Given the description of an element on the screen output the (x, y) to click on. 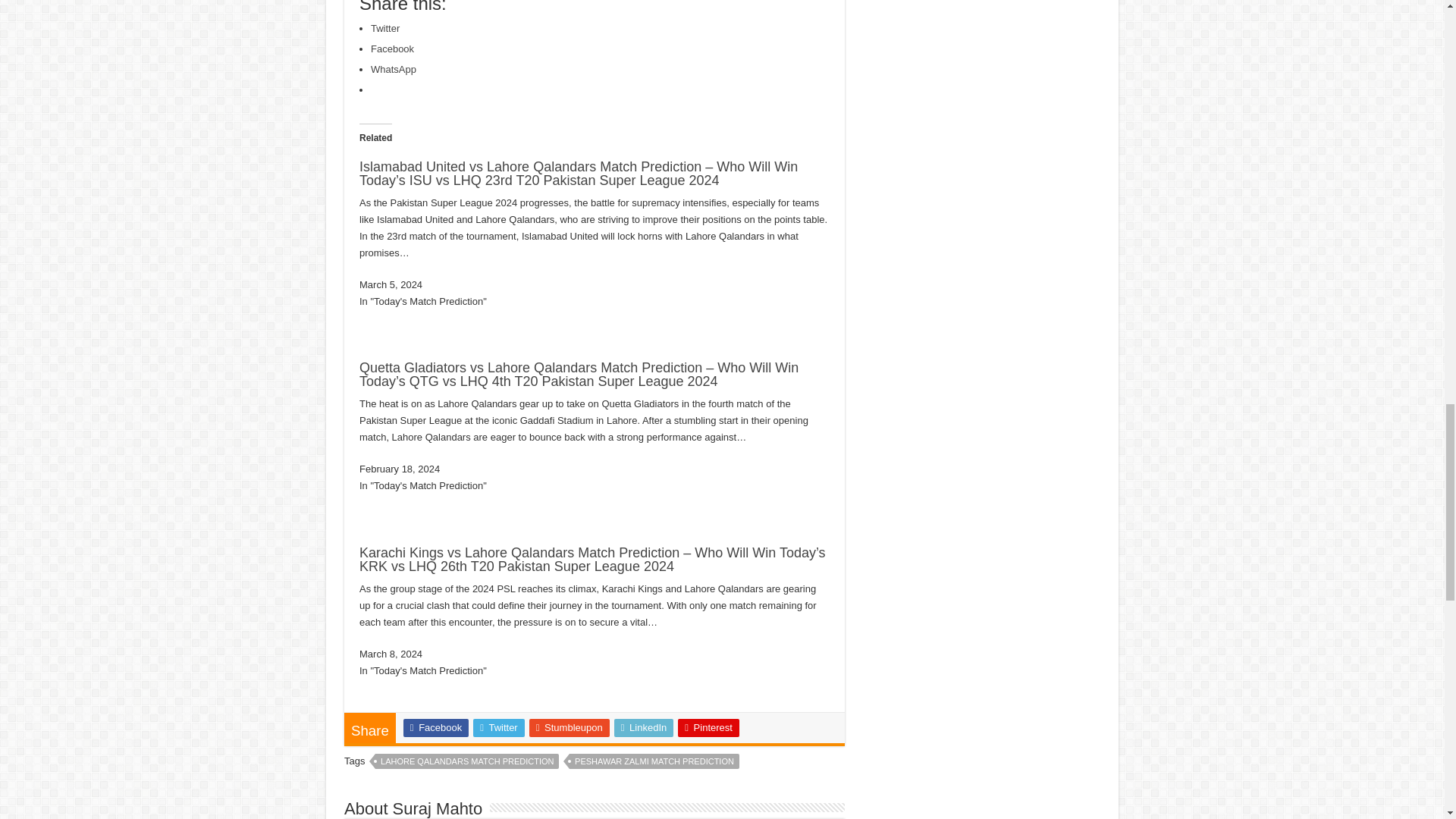
Facebook (392, 48)
Twitter (384, 28)
